Given the description of an element on the screen output the (x, y) to click on. 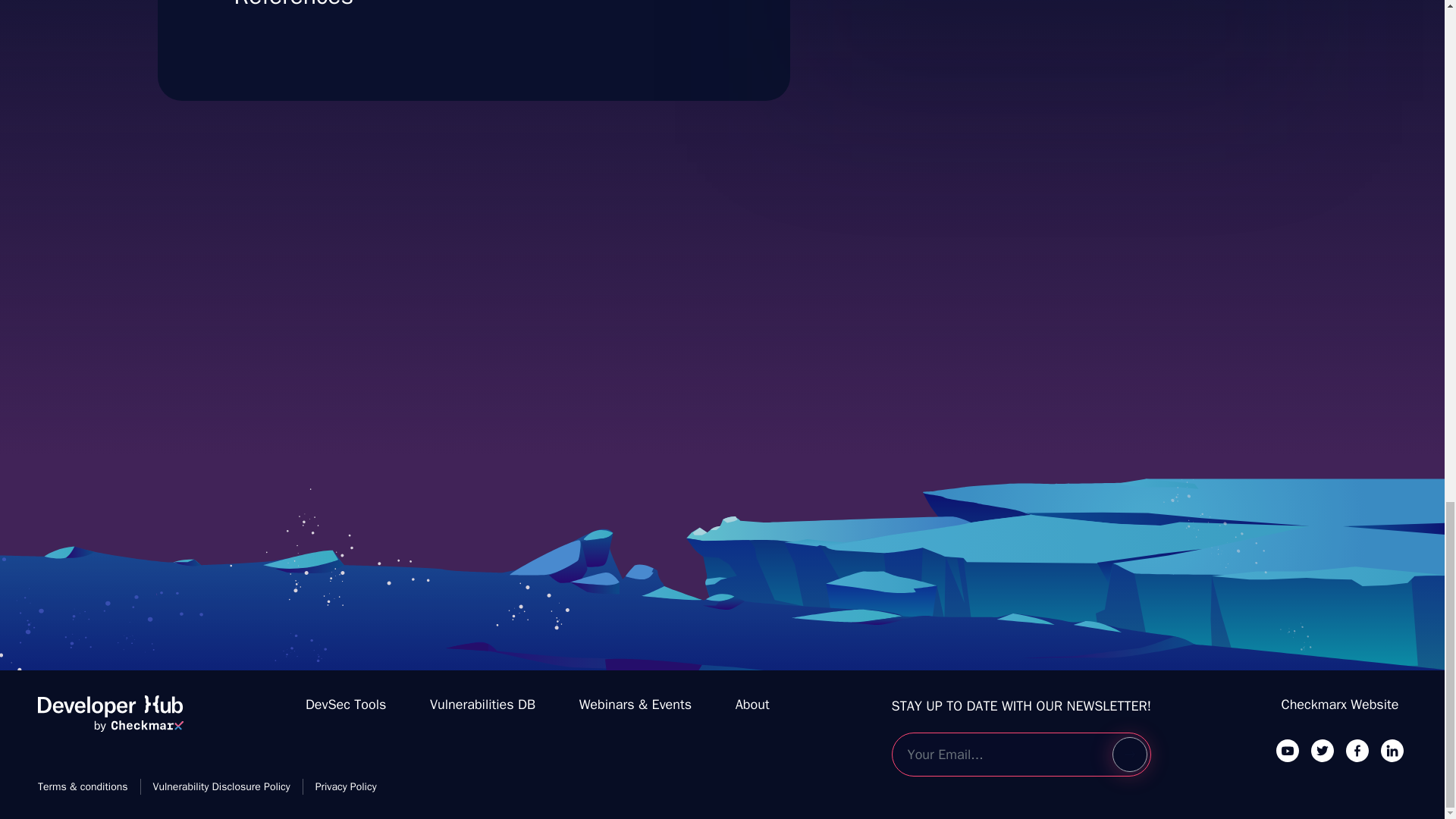
Follow us on Facebook (1037, 12)
Goto website home page (1356, 750)
Follow us on Twitter (110, 720)
Follow us on Linkedin (1322, 750)
Checkmarx Website (1391, 750)
About (1340, 704)
DevSec Tools (752, 704)
Privacy Policy (345, 704)
Submit form (346, 786)
Vulnerabilities DB (1129, 754)
Vulnerability Disclosure Policy (482, 704)
Follow us on Youtube (220, 786)
